Given the description of an element on the screen output the (x, y) to click on. 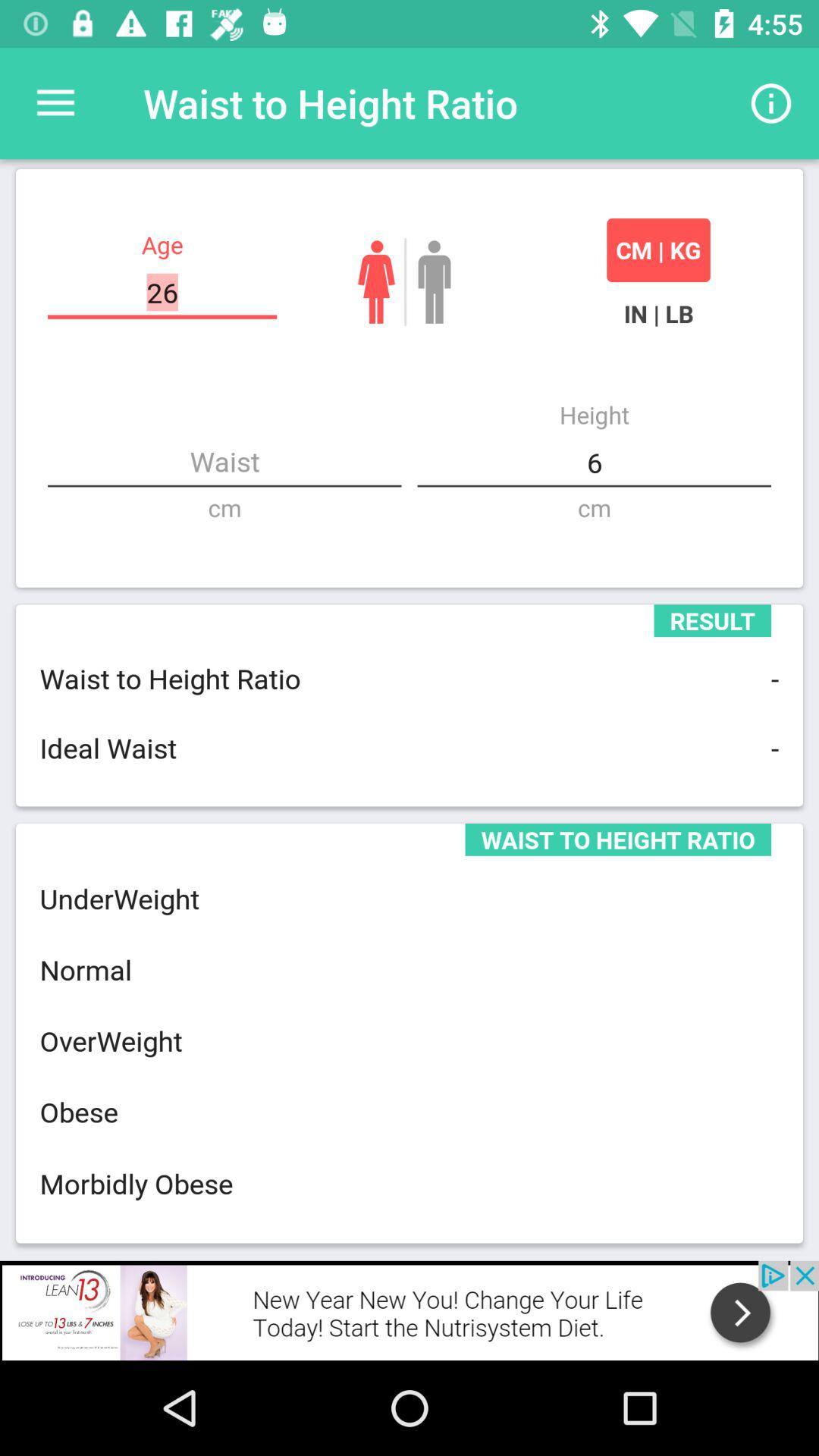
enter waist size (224, 462)
